Given the description of an element on the screen output the (x, y) to click on. 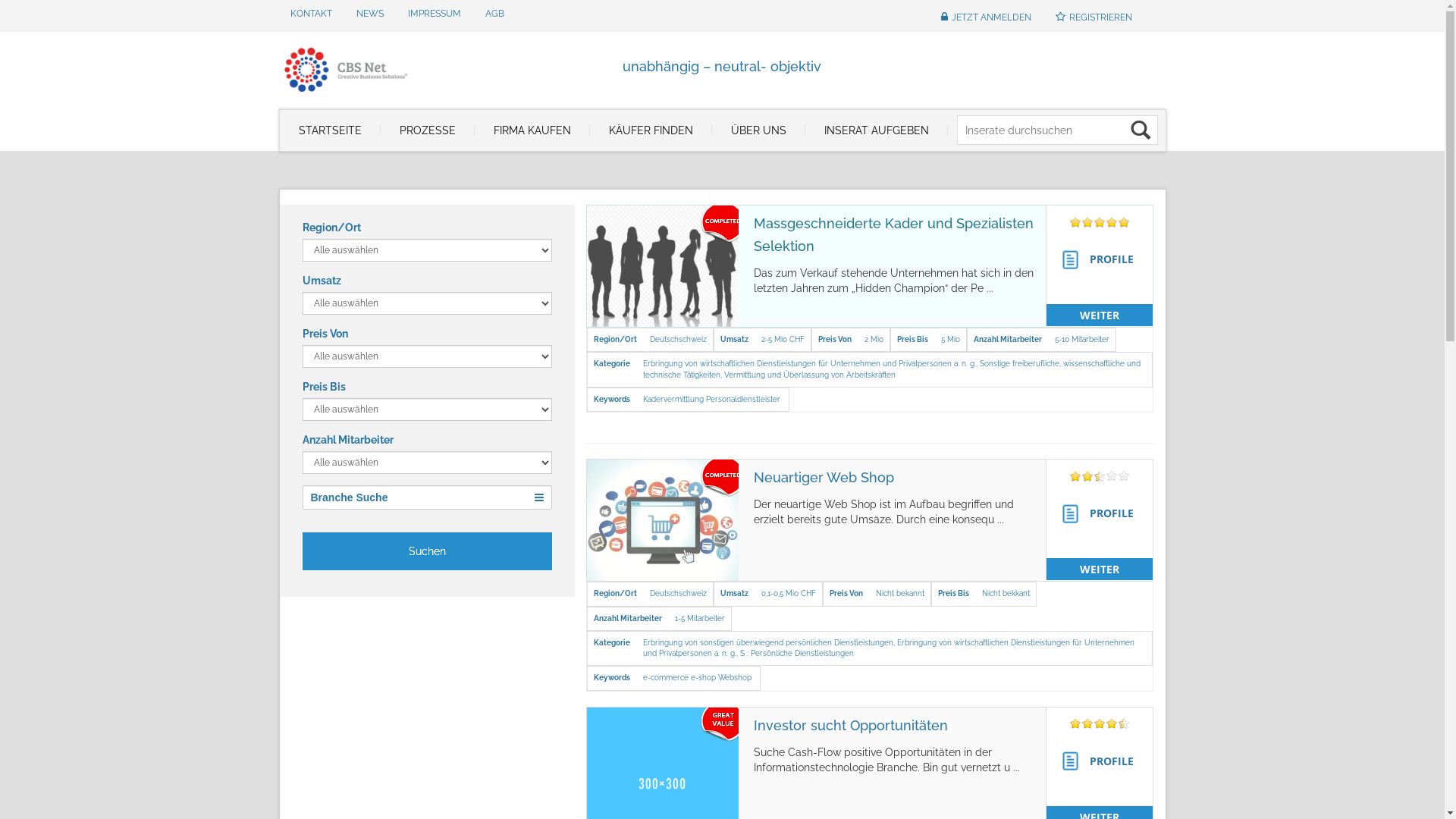
AGB Element type: text (493, 14)
regular Element type: hover (1099, 476)
INSERAT AUFGEBEN Element type: text (876, 129)
  Element type: text (662, 519)
Neuartiger Web Shop Element type: text (823, 477)
poor Element type: hover (1087, 221)
Webshop Element type: text (734, 677)
Kadervermittlung Element type: text (673, 399)
regular Element type: hover (1099, 723)
PROZESSE Element type: text (427, 129)
e-shop Element type: text (702, 677)
very good Element type: hover (1123, 723)
good Element type: hover (1111, 221)
Massgeschneiderte Kader und Spezialisten Selektion Element type: text (893, 234)
regular Element type: hover (1099, 221)
FIRMA KAUFEN Element type: text (531, 129)
IMPRESSUM Element type: text (433, 14)
poor Element type: hover (1087, 723)
CBS Net - Firmen kaufen und verkaufen Element type: hover (357, 65)
REGISTRIEREN Element type: text (1092, 17)
bad Element type: hover (1075, 221)
JETZT ANMELDEN Element type: text (985, 17)
Suchen Element type: text (426, 551)
  Element type: text (662, 265)
WEITER Element type: text (1099, 569)
STARTSEITE Element type: text (329, 129)
very good Element type: hover (1123, 476)
good Element type: hover (1111, 723)
PROFILE Element type: text (1104, 761)
NEWS Element type: text (369, 14)
very good Element type: hover (1123, 221)
PROFILE Element type: text (1104, 260)
KONTAKT Element type: text (311, 14)
bad Element type: hover (1075, 723)
PROFILE Element type: text (1104, 514)
poor Element type: hover (1087, 476)
e-commerce Element type: text (665, 677)
bad Element type: hover (1075, 476)
WEITER Element type: text (1099, 315)
good Element type: hover (1111, 476)
Personaldienstleister Element type: text (743, 399)
